Given the description of an element on the screen output the (x, y) to click on. 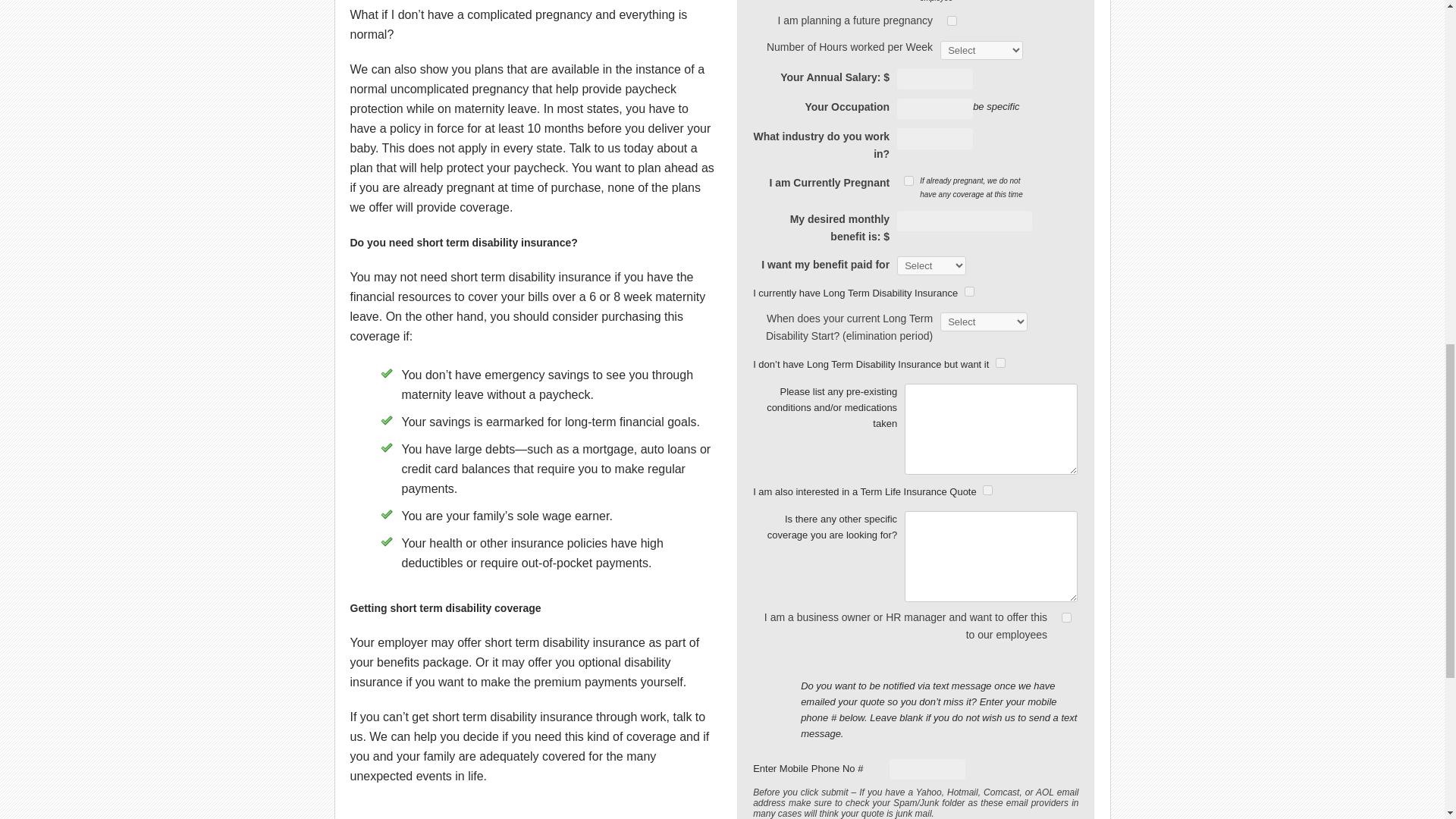
1 (909, 180)
1 (951, 20)
1 (968, 291)
